Given the description of an element on the screen output the (x, y) to click on. 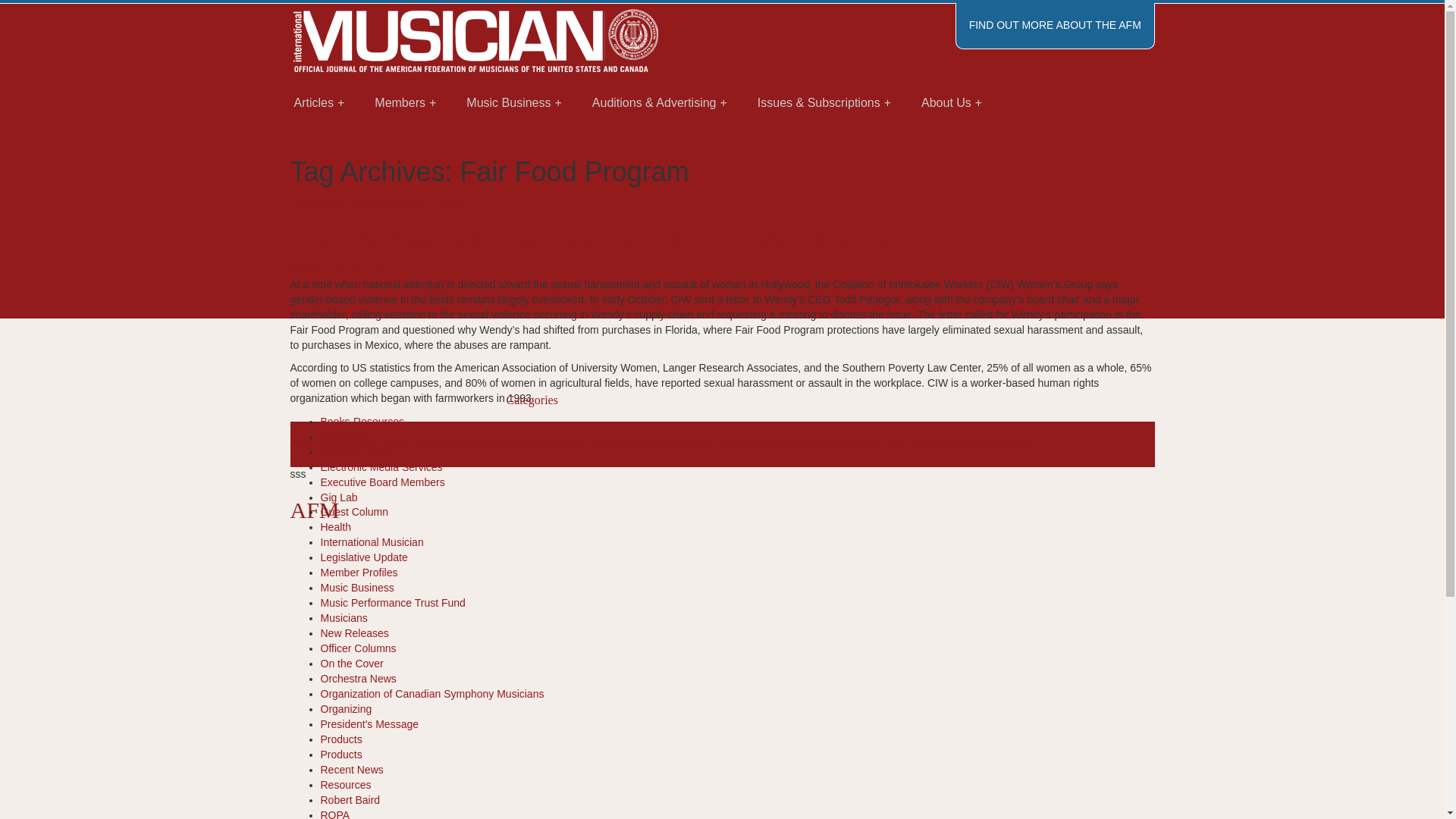
Members (405, 102)
About Us (951, 102)
Articles (319, 102)
Music Business (513, 102)
